Given the description of an element on the screen output the (x, y) to click on. 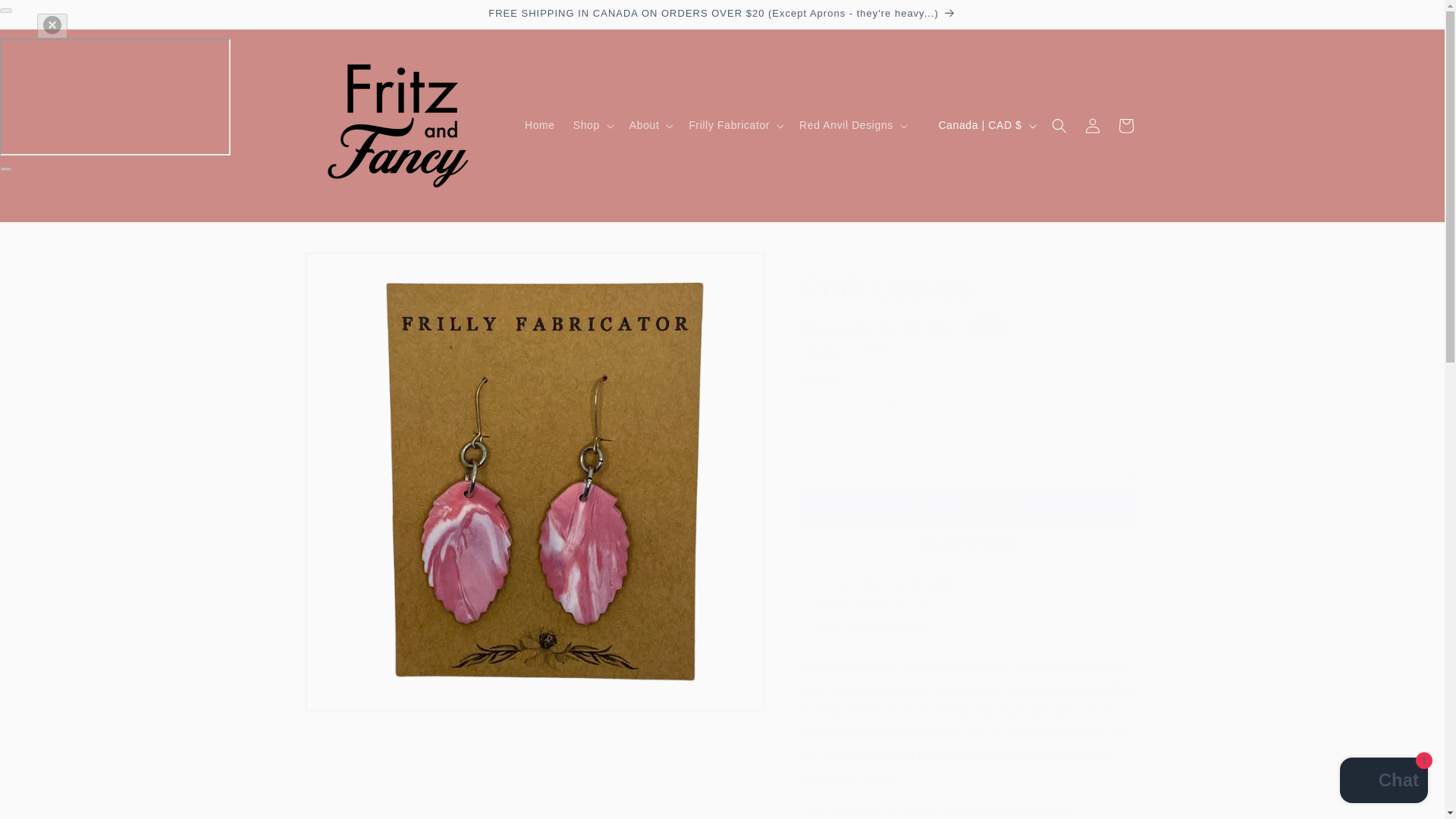
Home (539, 124)
Shopify online store chat (1383, 781)
1 (856, 407)
Skip to content (45, 17)
